Given the description of an element on the screen output the (x, y) to click on. 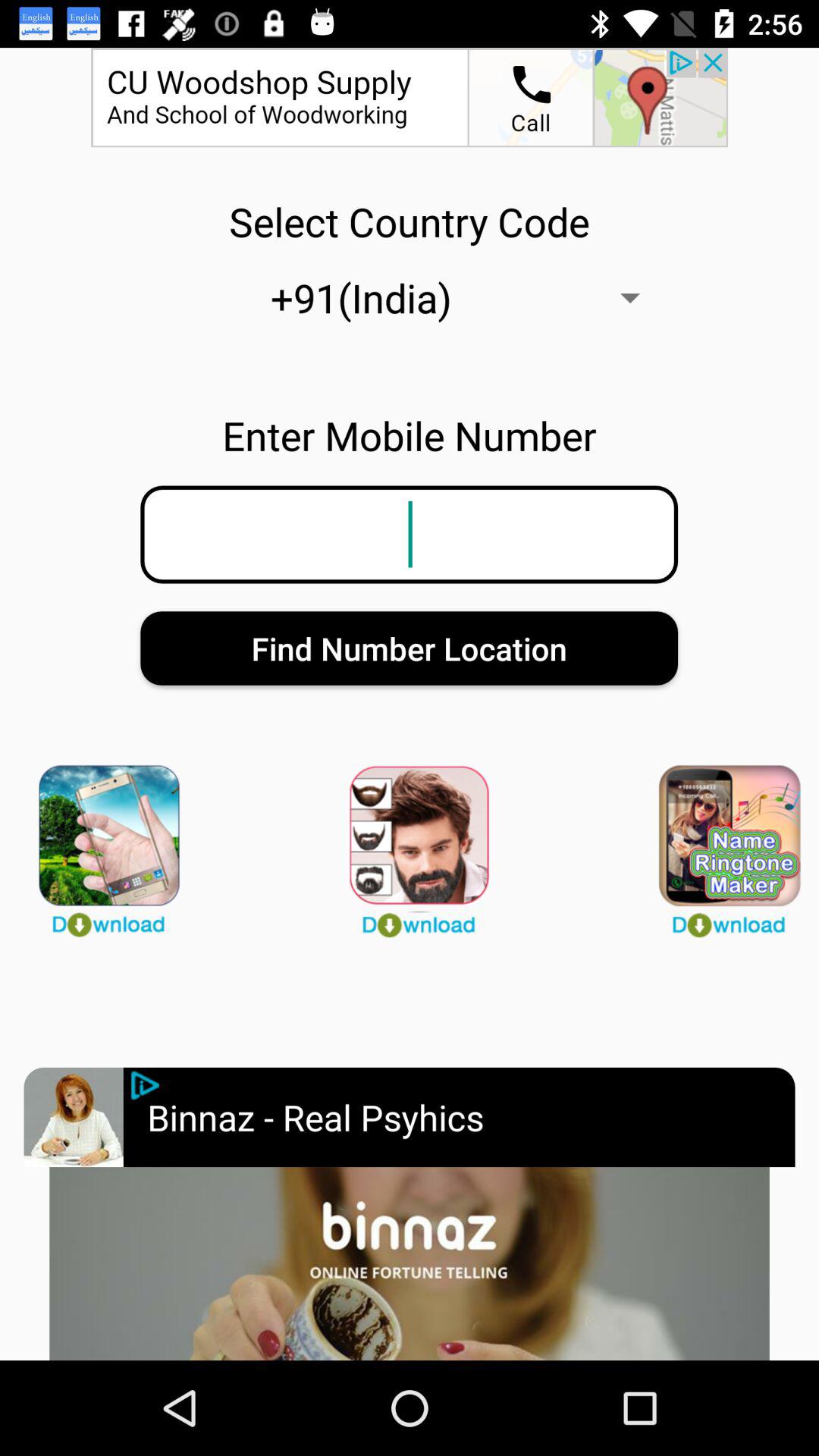
enter mobile number (408, 534)
